Given the description of an element on the screen output the (x, y) to click on. 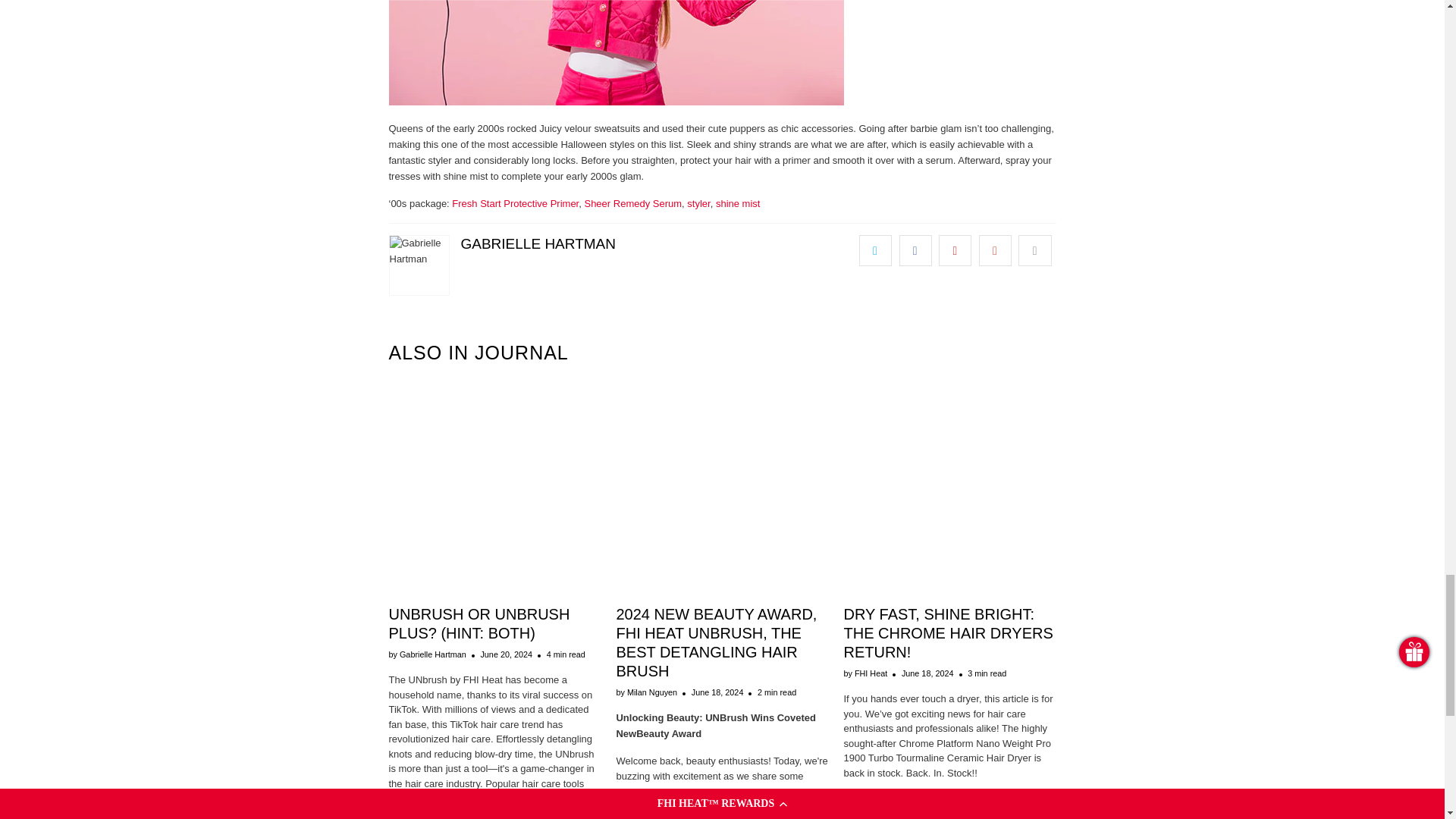
Share this on Twitter (875, 250)
Share this on Pinterest (955, 250)
Share this on Facebook (915, 250)
Email this to a friend (1034, 250)
